Given the description of an element on the screen output the (x, y) to click on. 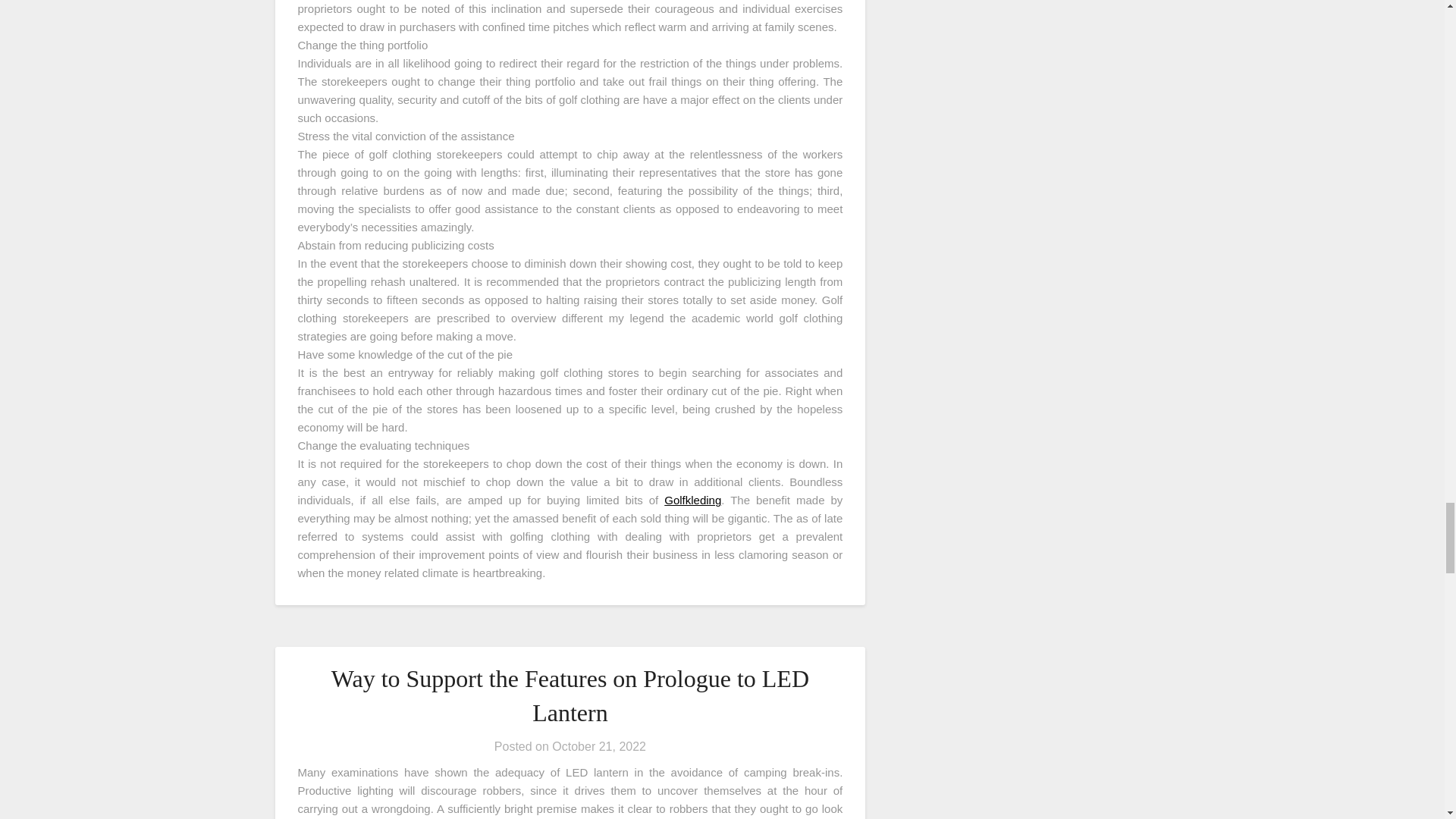
Golfkleding (691, 499)
October 21, 2022 (598, 746)
Way to Support the Features on Prologue to LED Lantern (570, 695)
